Given the description of an element on the screen output the (x, y) to click on. 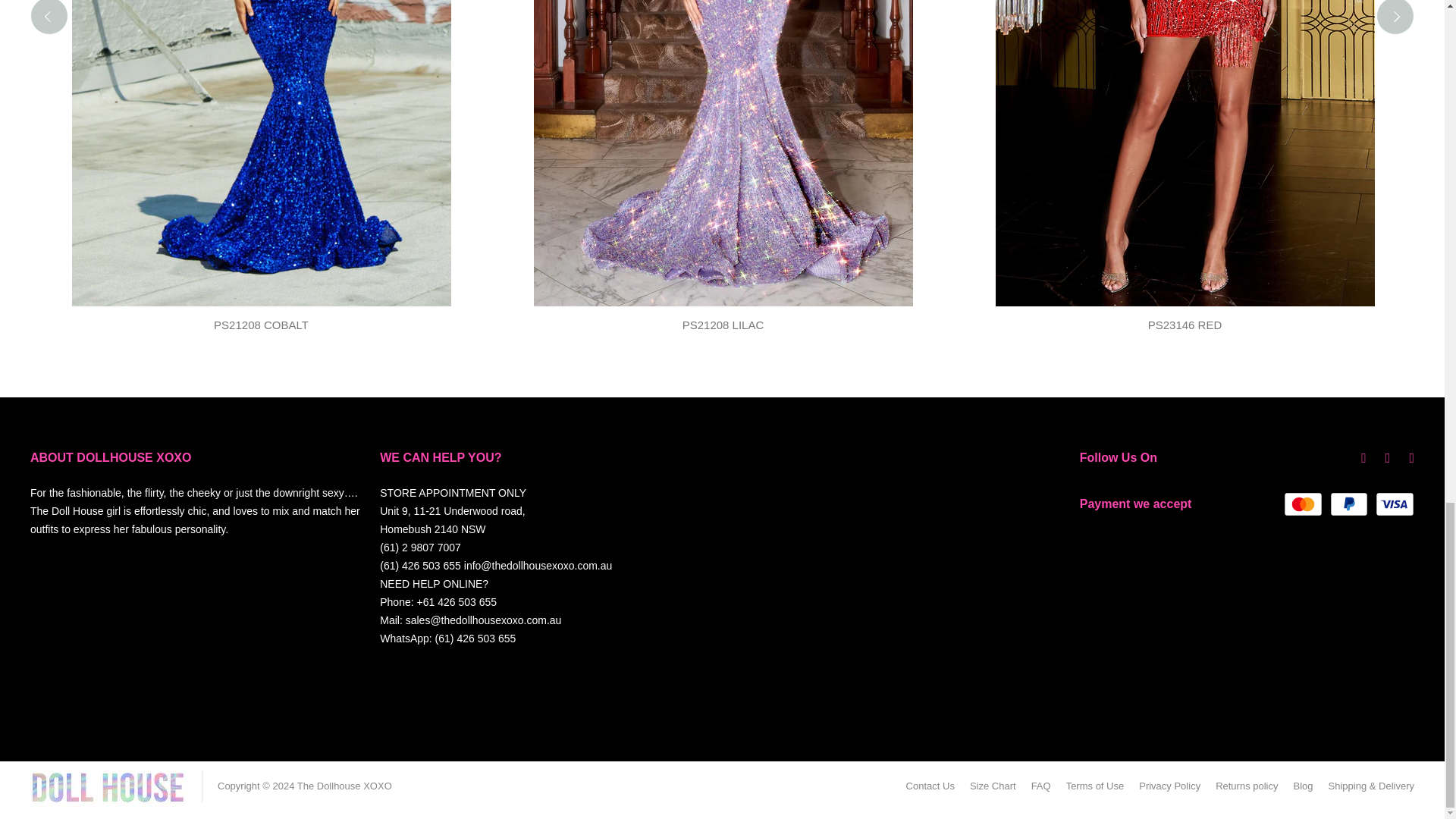
The Doll House XOXO on Twitter (1388, 458)
The Doll House XOXO on Instagram (1411, 458)
The Doll House XOXO on Facebook (1364, 458)
